Given the description of an element on the screen output the (x, y) to click on. 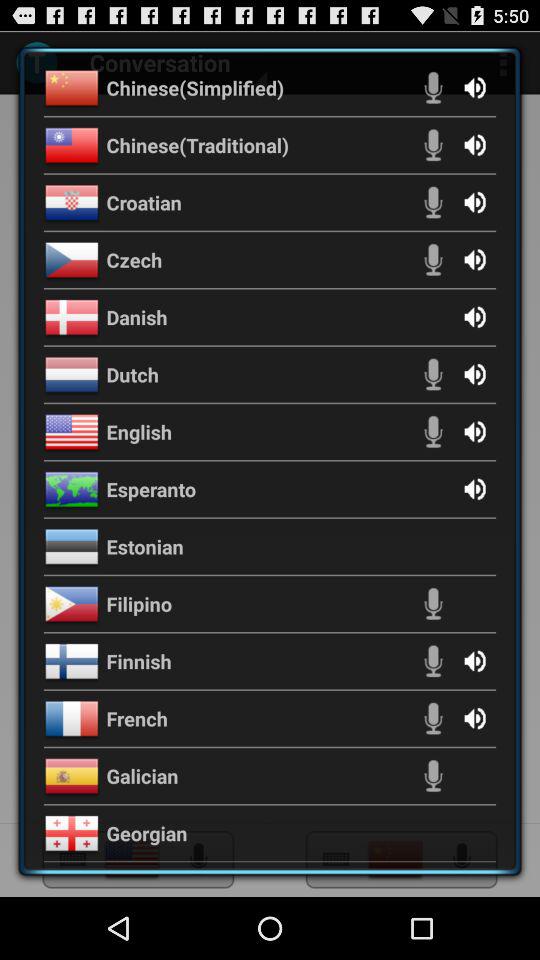
turn off the chinese(traditional) icon (197, 144)
